Given the description of an element on the screen output the (x, y) to click on. 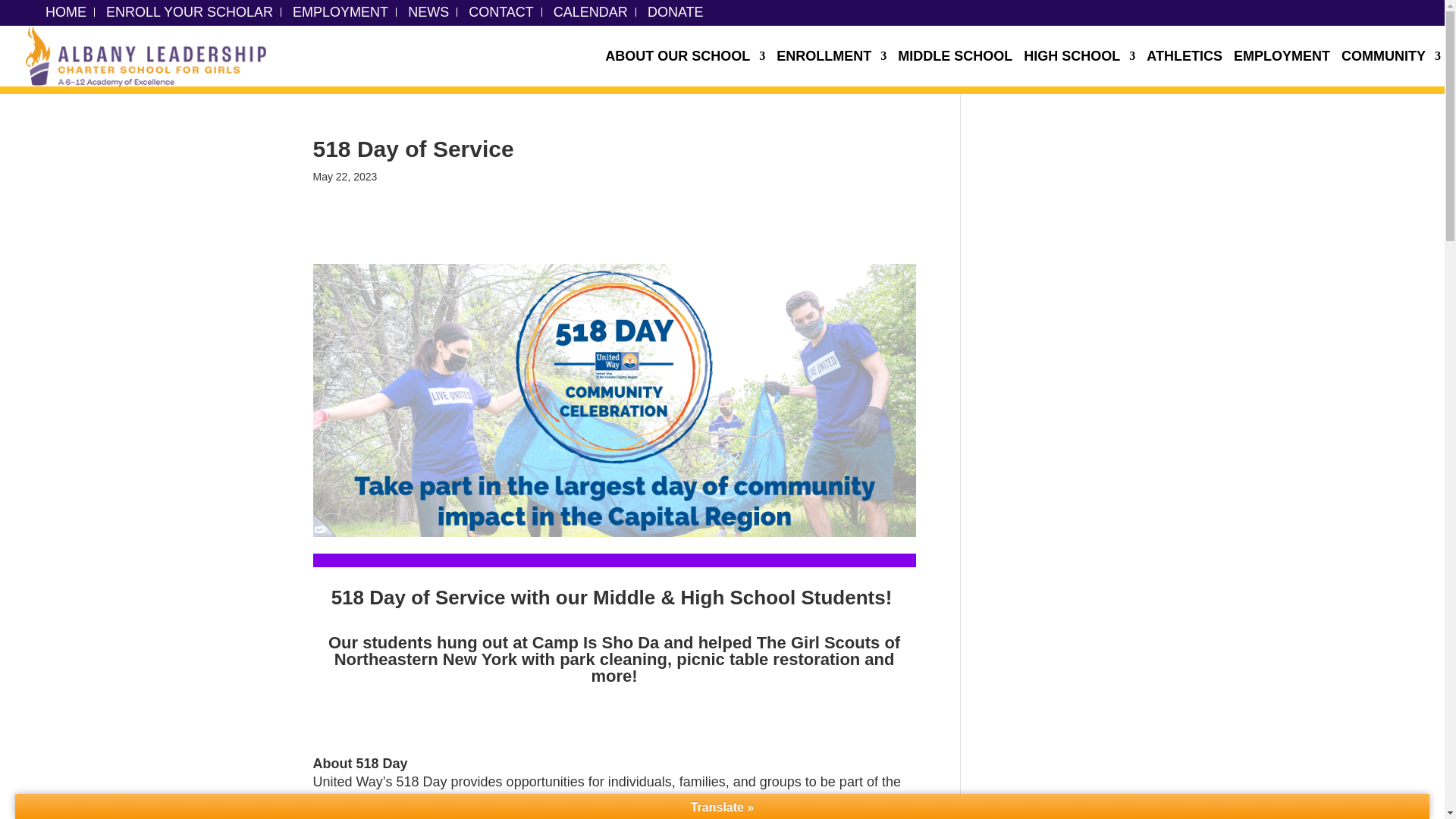
ABOUT OUR SCHOOL (685, 68)
EMPLOYMENT (1281, 68)
HIGH SCHOOL (1079, 68)
ATHLETICS (1185, 68)
DONATE (675, 11)
CALENDAR (590, 11)
ENROLL YOUR SCHOLAR (189, 11)
MIDDLE SCHOOL (954, 68)
NEWS (427, 11)
HOME (65, 11)
CONTACT (501, 11)
ENROLLMENT (831, 68)
COMMUNITY (1390, 68)
EMPLOYMENT (340, 11)
